Given the description of an element on the screen output the (x, y) to click on. 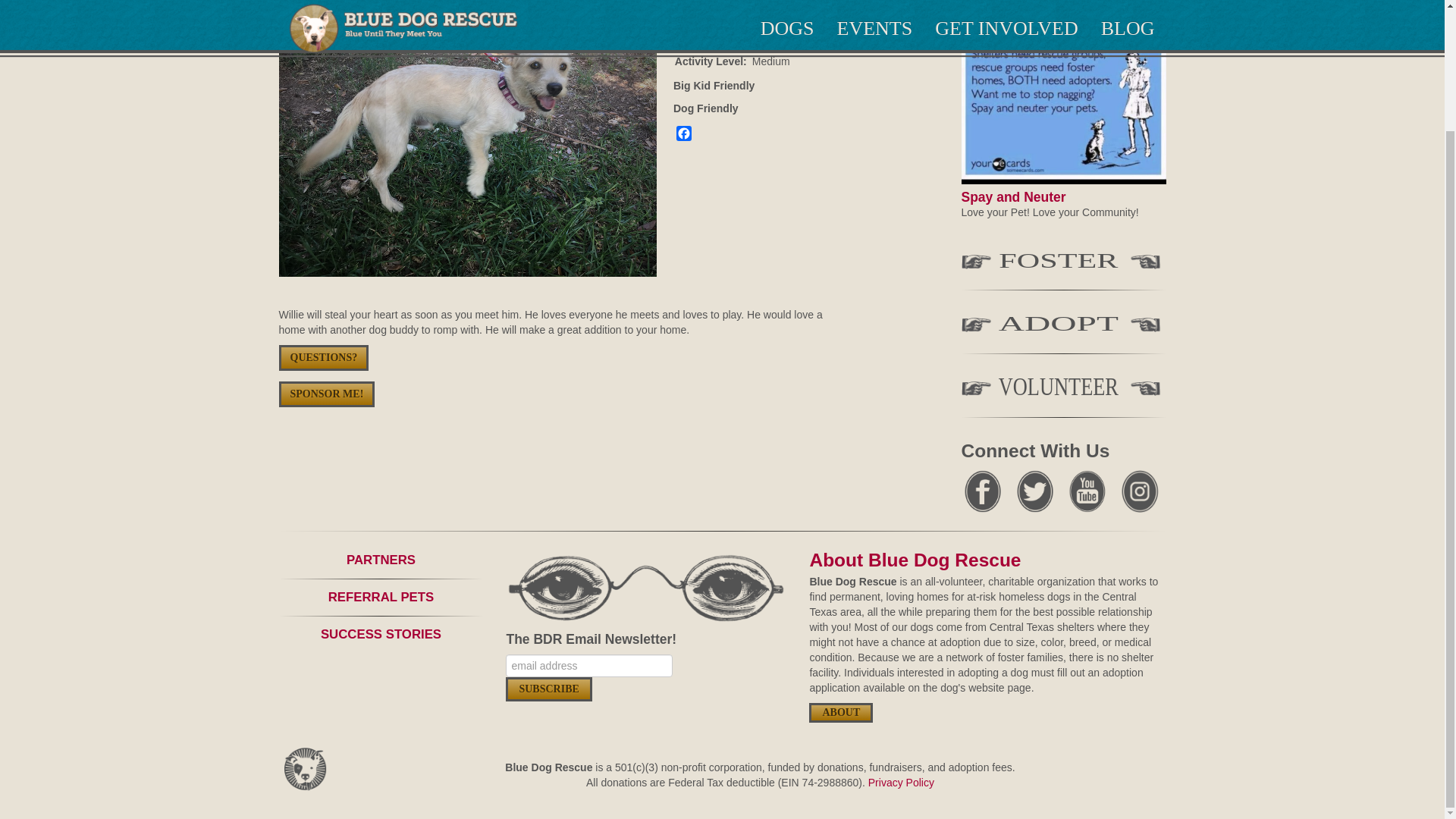
QUESTIONS? (324, 357)
ADOPT (1063, 326)
FOSTER (1063, 262)
SUCCESS STORIES (380, 634)
Facebook (683, 134)
ABOUT (840, 712)
VOLUNTEER (1063, 389)
About Blue Dog Rescue (914, 559)
Subscribe (548, 689)
Facebook (683, 134)
PARTNERS (380, 559)
REFERRAL PETS (381, 596)
Spay and Neuter (1012, 196)
Privacy Policy (900, 782)
Subscribe (548, 689)
